Given the description of an element on the screen output the (x, y) to click on. 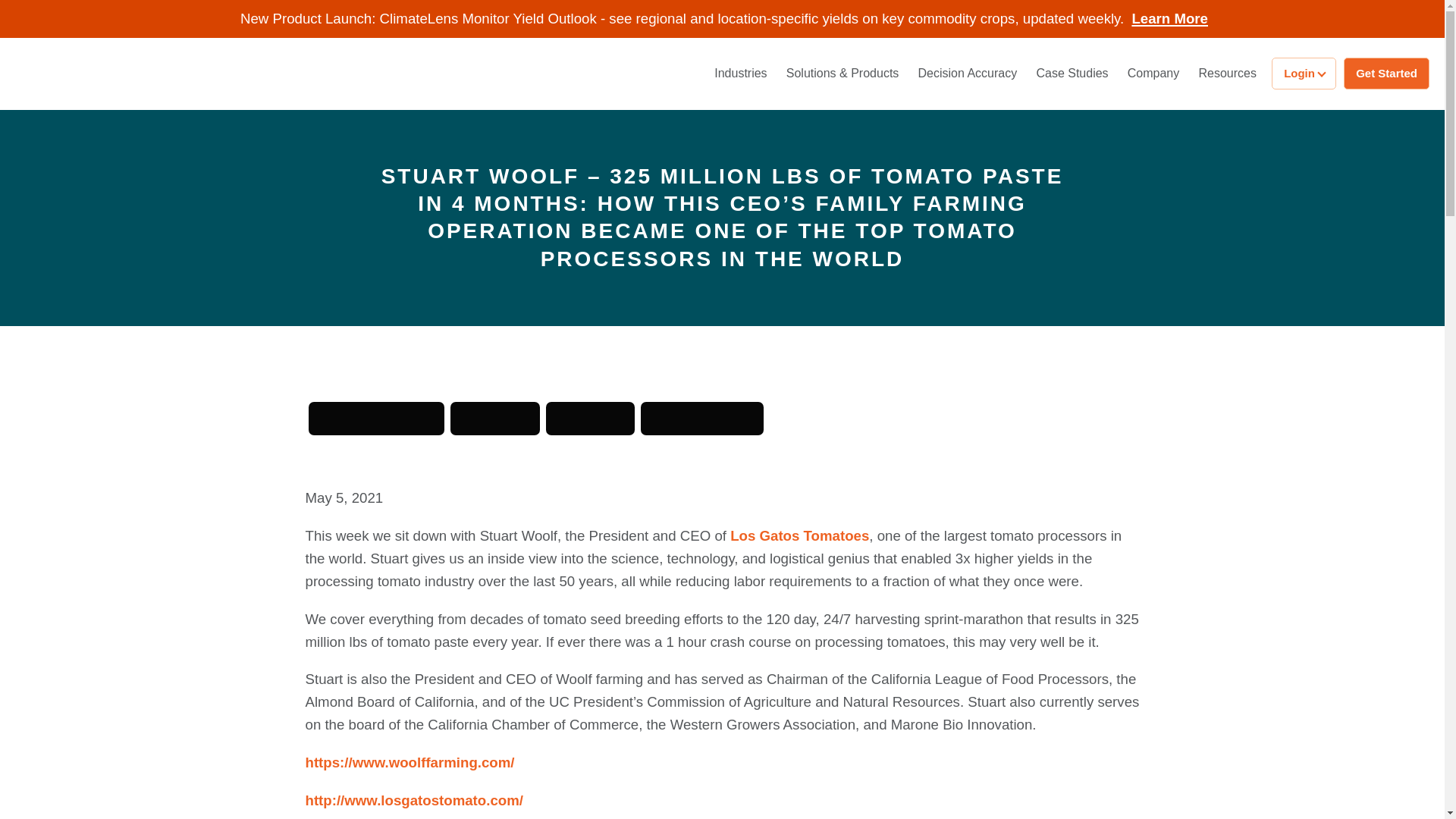
Skip to main content (67, 7)
Get Started (1386, 73)
Case Studies (1071, 73)
Login (1303, 73)
Company (1152, 73)
Decision Accuracy (968, 73)
Industries (740, 73)
Resources (1227, 73)
